Given the description of an element on the screen output the (x, y) to click on. 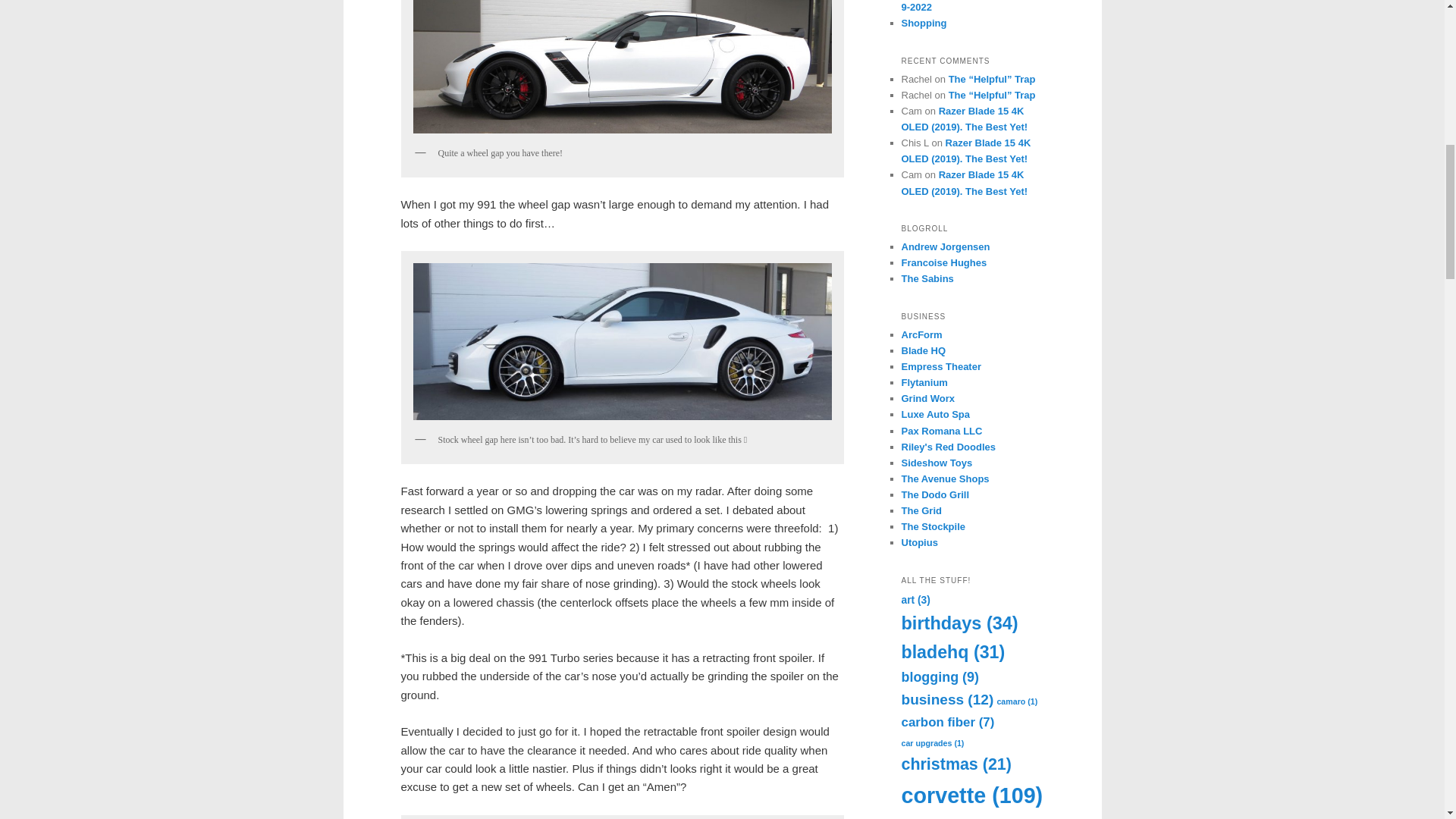
Indian Ocean Cuisine!  (935, 494)
There is no such thing as fast enough.  (933, 526)
Drive Protected (935, 414)
Epic Go-Cart Racing (920, 510)
